Given the description of an element on the screen output the (x, y) to click on. 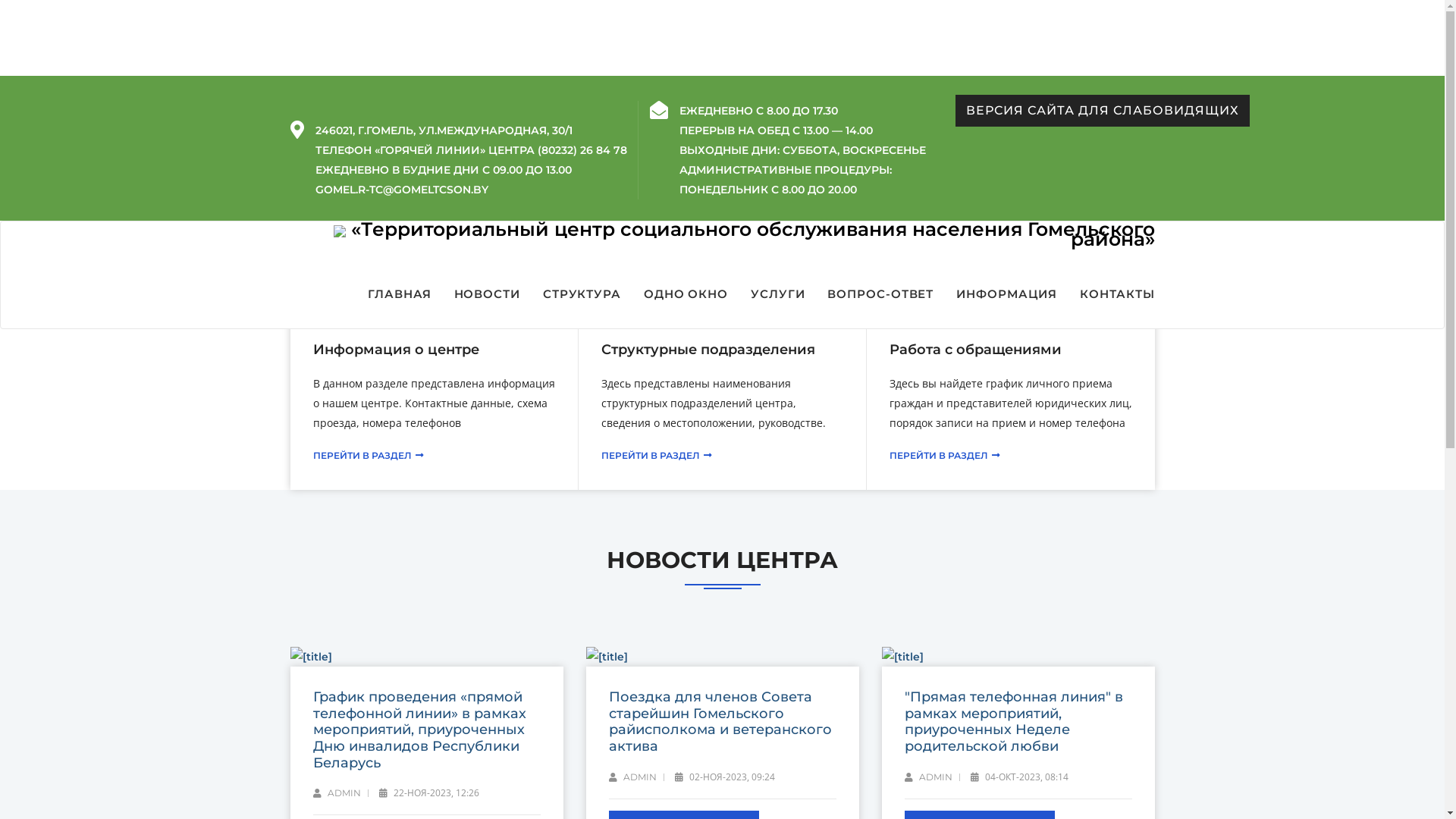
ADMIN Element type: text (631, 777)
ADMIN Element type: text (927, 777)
ADMIN Element type: text (336, 793)
